Given the description of an element on the screen output the (x, y) to click on. 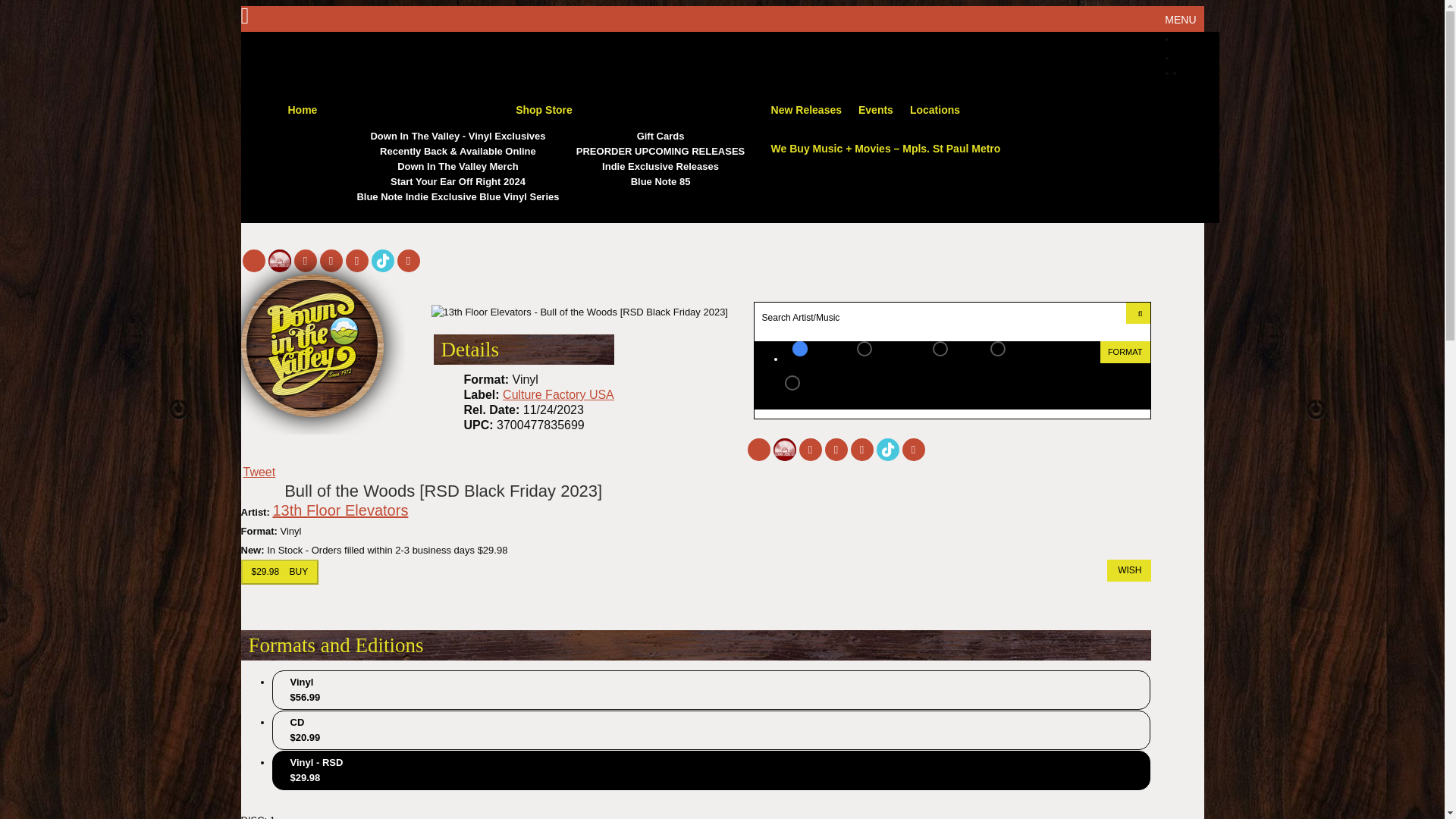
CD (954, 358)
Blue Note 85 (660, 181)
ANY (816, 358)
Indie Exclusive Releases (660, 166)
Gift Cards (660, 136)
Down In The Valley - Vinyl Exclusives (457, 136)
Search (1137, 312)
Events (875, 109)
Down In The Valley Merch (457, 166)
Blue Note Indie Exclusive Blue Vinyl Series (457, 196)
Locations (935, 109)
New Releases (805, 109)
VINYL (1017, 358)
Home (302, 109)
PREORDER UPCOMING RELEASES (660, 151)
